Given the description of an element on the screen output the (x, y) to click on. 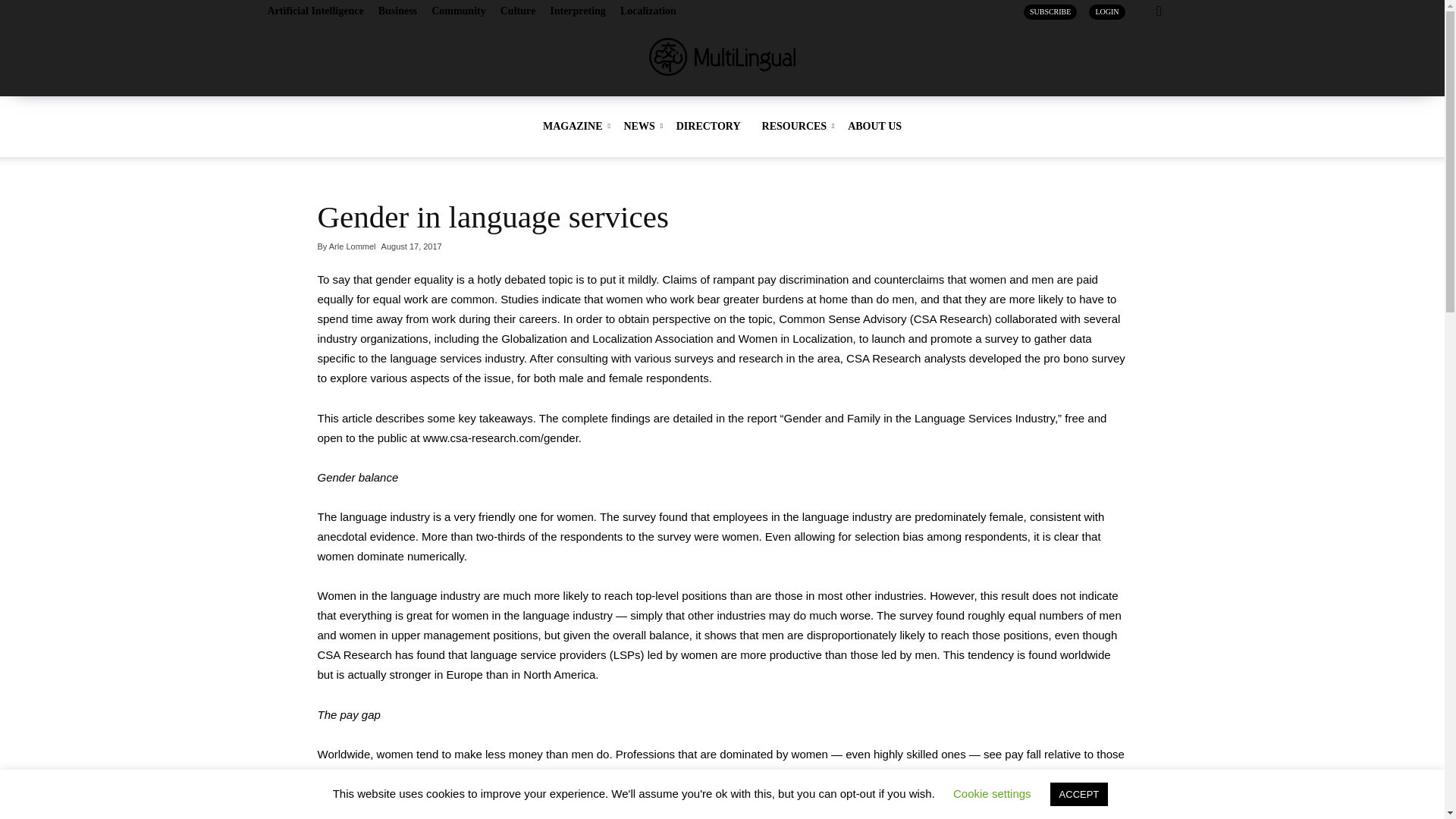
Artificial Intelligence (314, 10)
Gender in language services (492, 216)
Community (458, 10)
Business (397, 10)
